Given the description of an element on the screen output the (x, y) to click on. 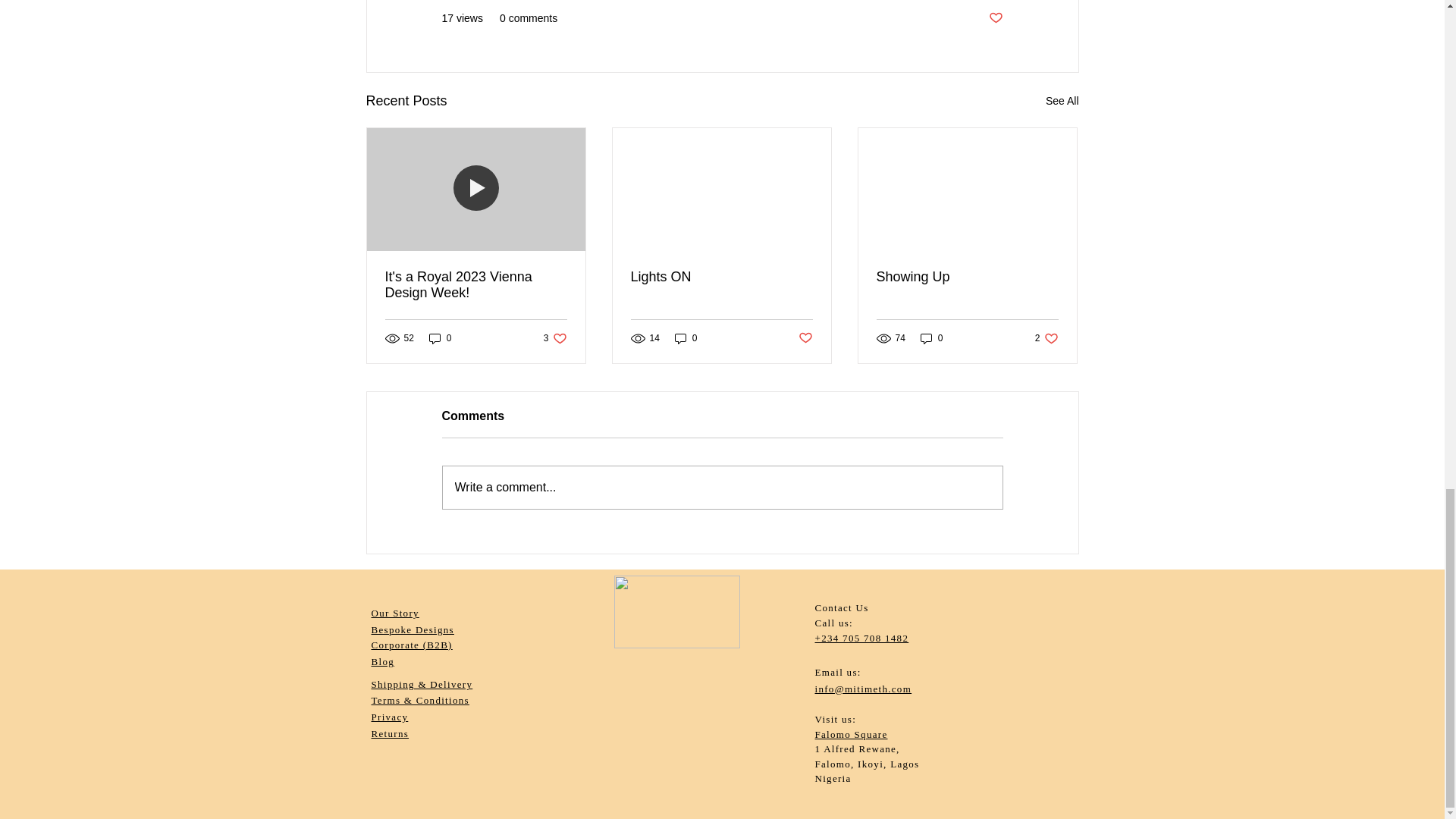
new logo png.png (676, 611)
